Given the description of an element on the screen output the (x, y) to click on. 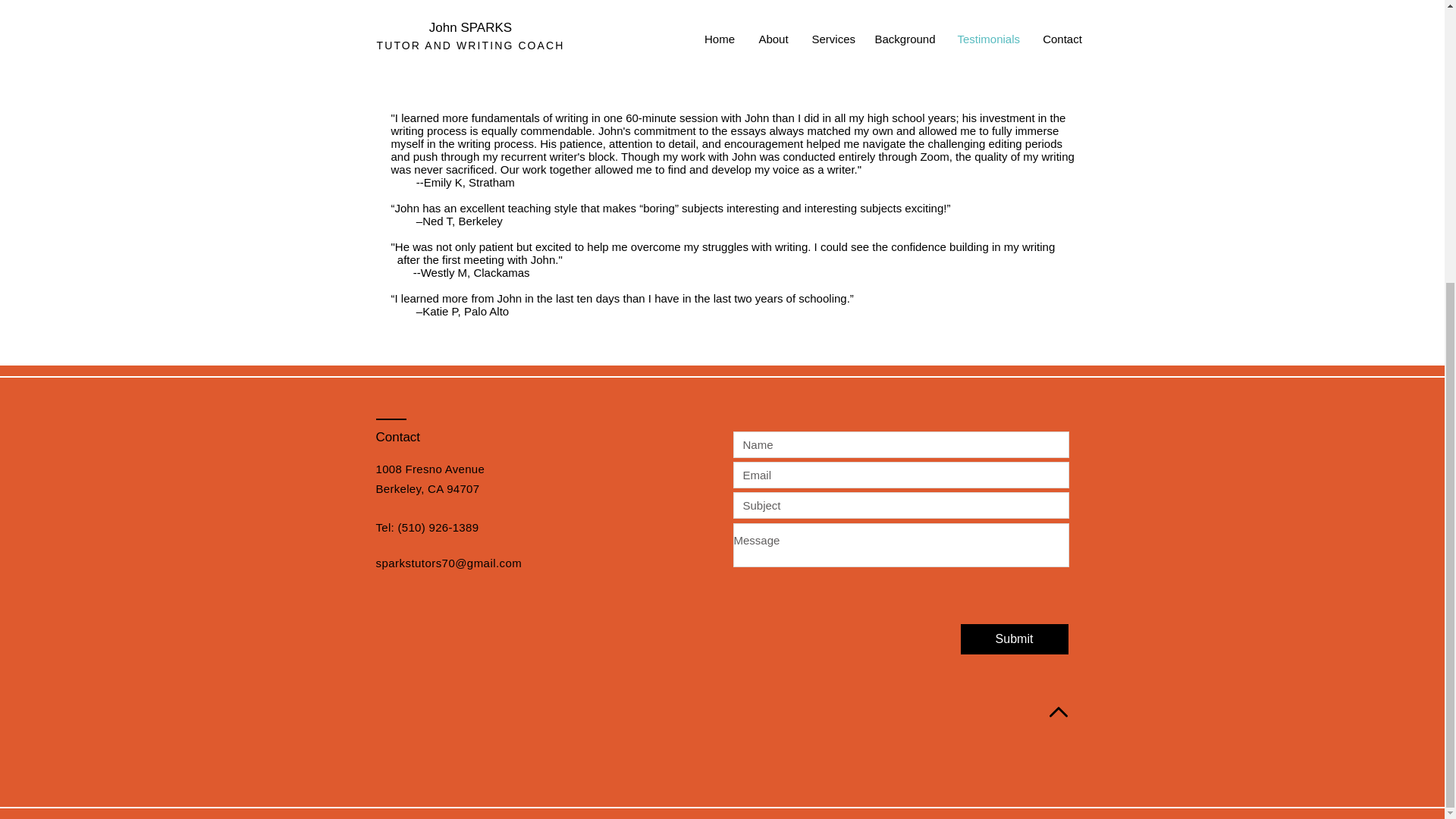
Submit (1013, 639)
